Given the description of an element on the screen output the (x, y) to click on. 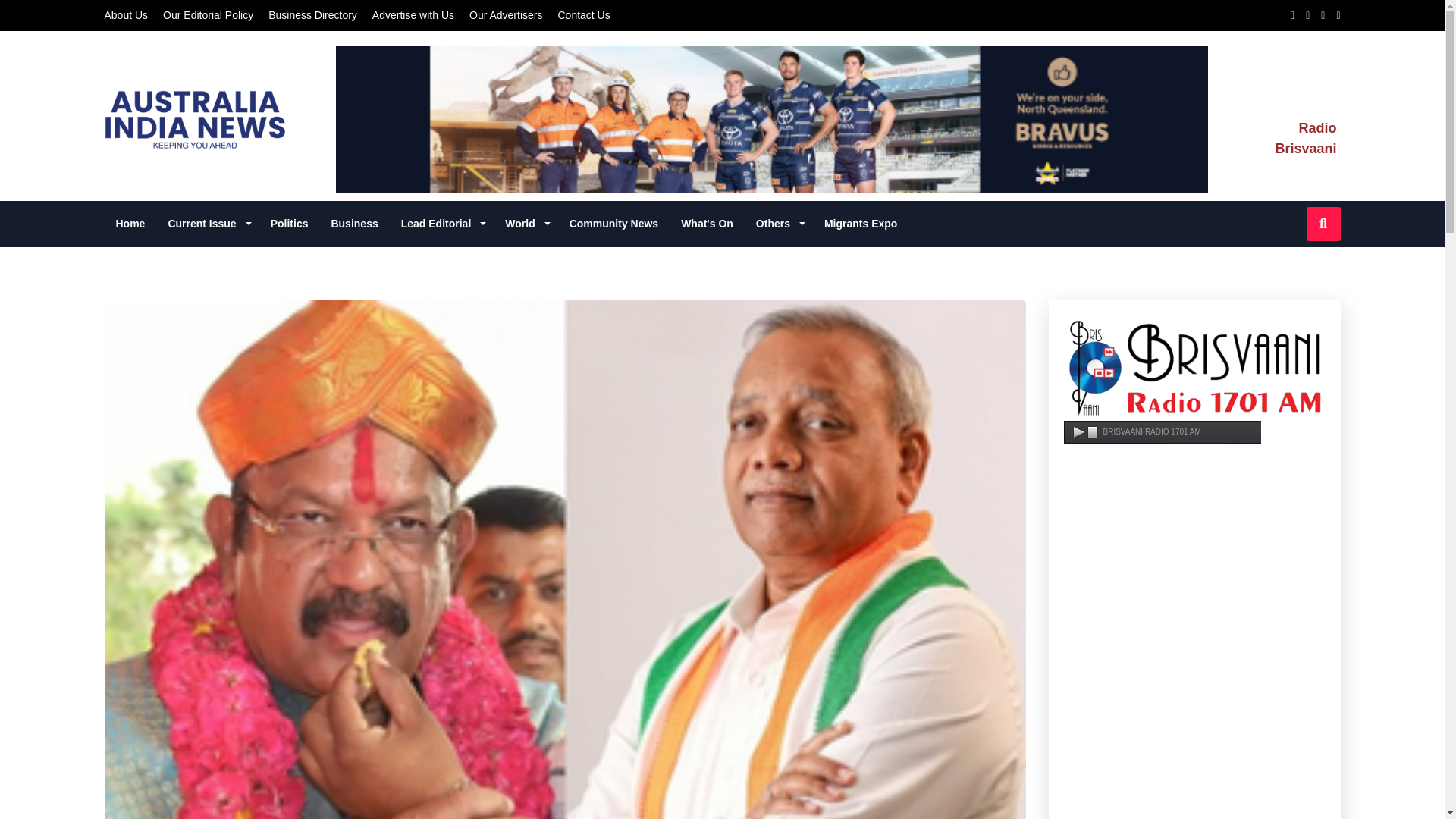
YouTube video player (1193, 527)
Community News (613, 223)
Politics (289, 223)
YouTube video player (1193, 657)
YouTube video player (1193, 774)
Lead Editorial (442, 223)
Business Directory (311, 15)
Home (130, 223)
Others (778, 223)
World (525, 223)
Current Issue (207, 223)
Advertise with Us (413, 15)
Migrants Expo (860, 223)
Business (353, 223)
bravus-banner-1 (772, 119)
